Given the description of an element on the screen output the (x, y) to click on. 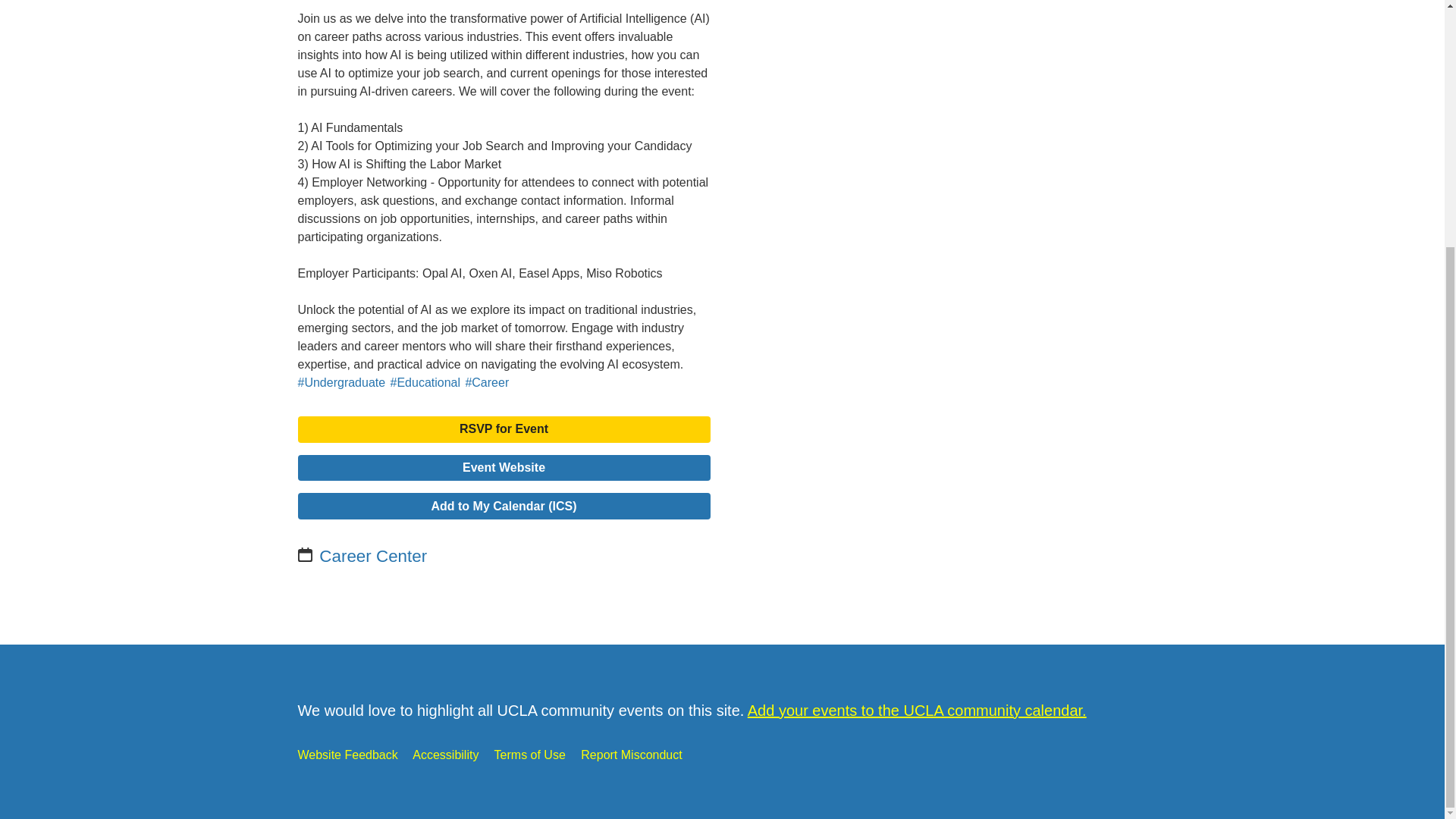
Terms of Use (530, 754)
Add your events to the UCLA community calendar. (917, 710)
Website Feedback (347, 754)
Report Misconduct (630, 754)
Career Center (372, 556)
Event Website (503, 468)
RSVP for Event (503, 429)
Accessibility (445, 754)
